Given the description of an element on the screen output the (x, y) to click on. 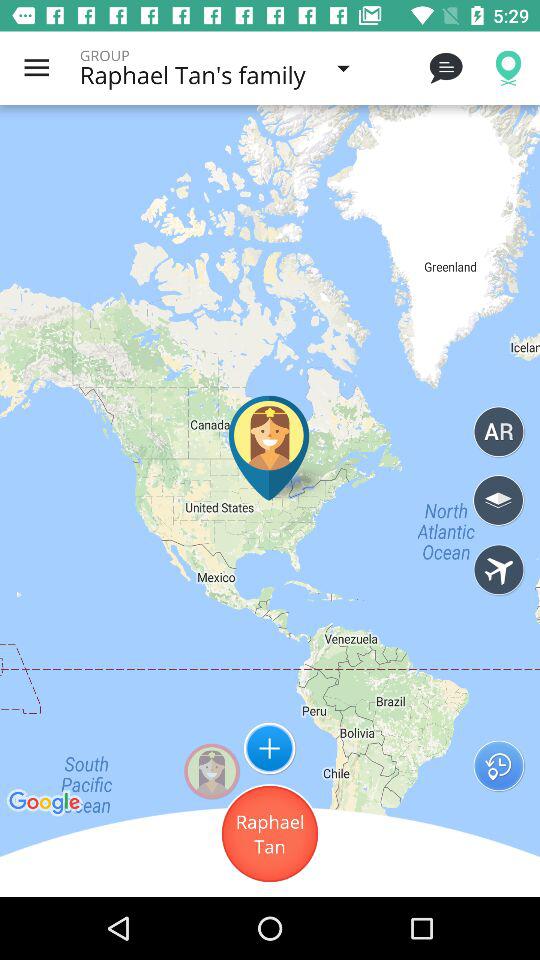
turn on the icon to the right of the raphael tan icon (498, 765)
